Given the description of an element on the screen output the (x, y) to click on. 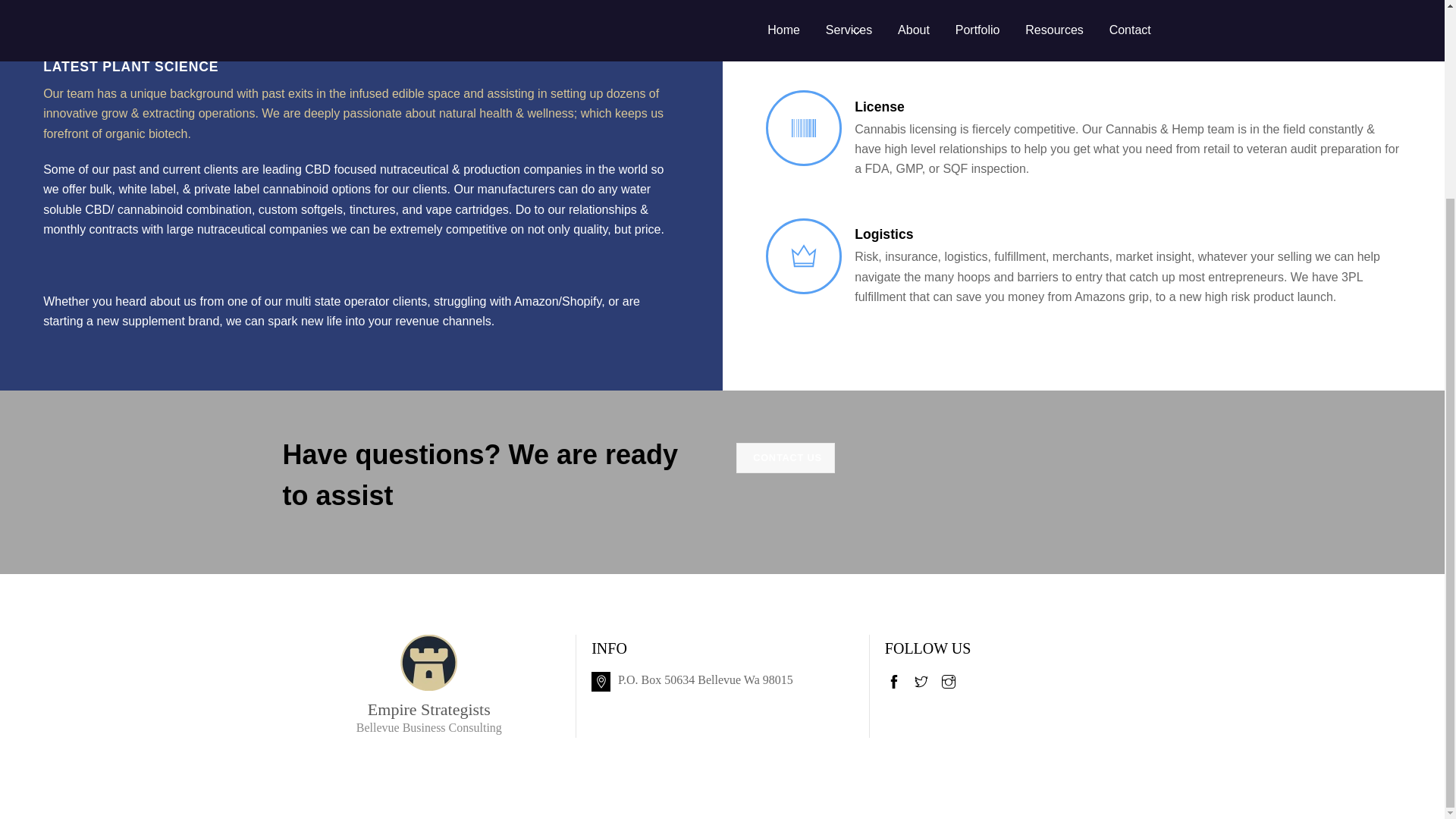
CONTACT US (785, 458)
